Given the description of an element on the screen output the (x, y) to click on. 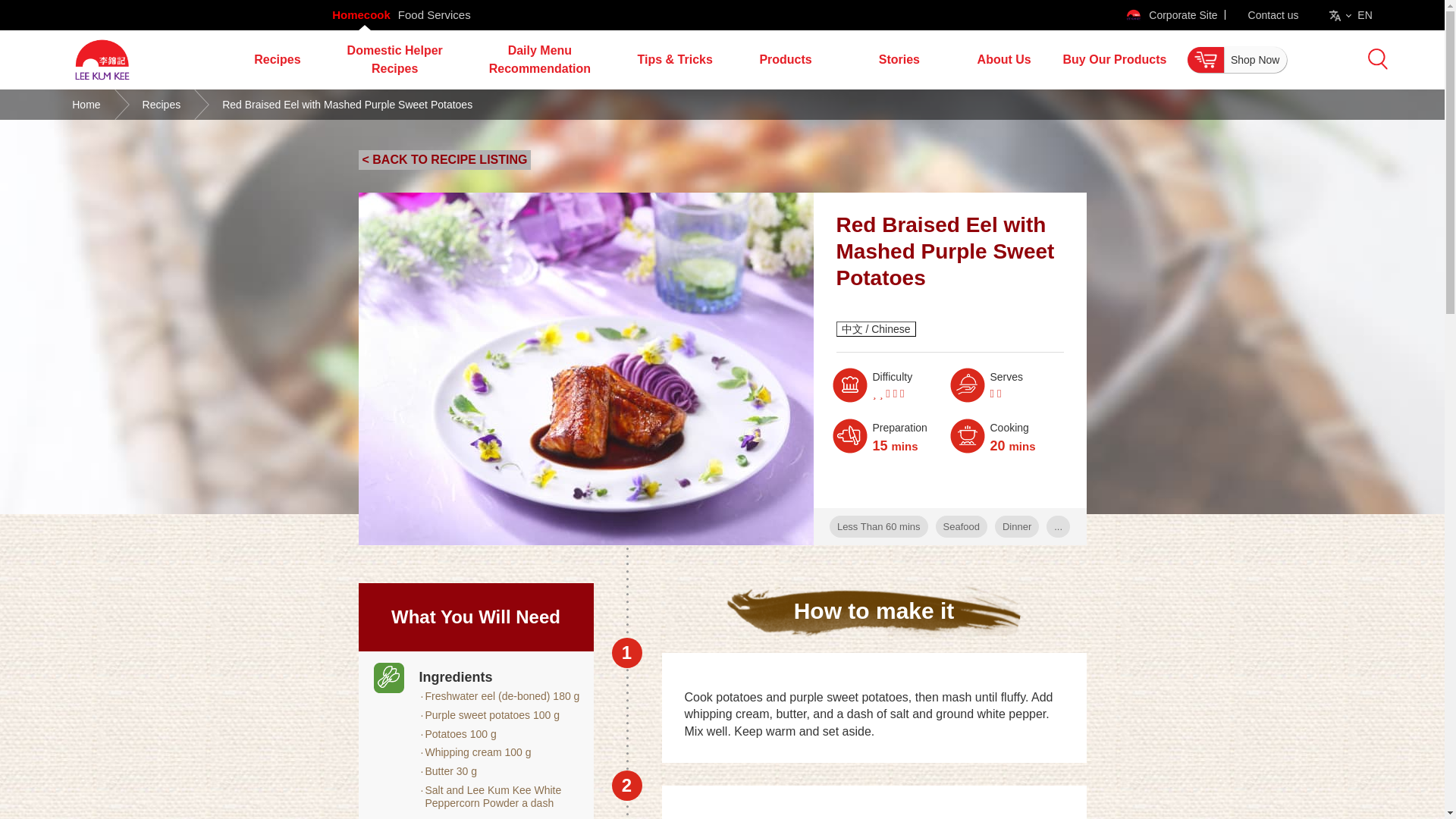
Corporate Site (1171, 14)
Daily Menu Recommendation (539, 59)
Domestic Helper Recipes (394, 59)
About Us (1003, 59)
Homecook (360, 14)
Buy Our Products (1113, 59)
Corporate Site (1171, 14)
Homecook (360, 14)
Lee Kum Kee (101, 87)
Products (784, 59)
Contact us (1272, 14)
Products (784, 59)
Food Services (433, 14)
Recipes (277, 59)
Recipes (277, 59)
